Given the description of an element on the screen output the (x, y) to click on. 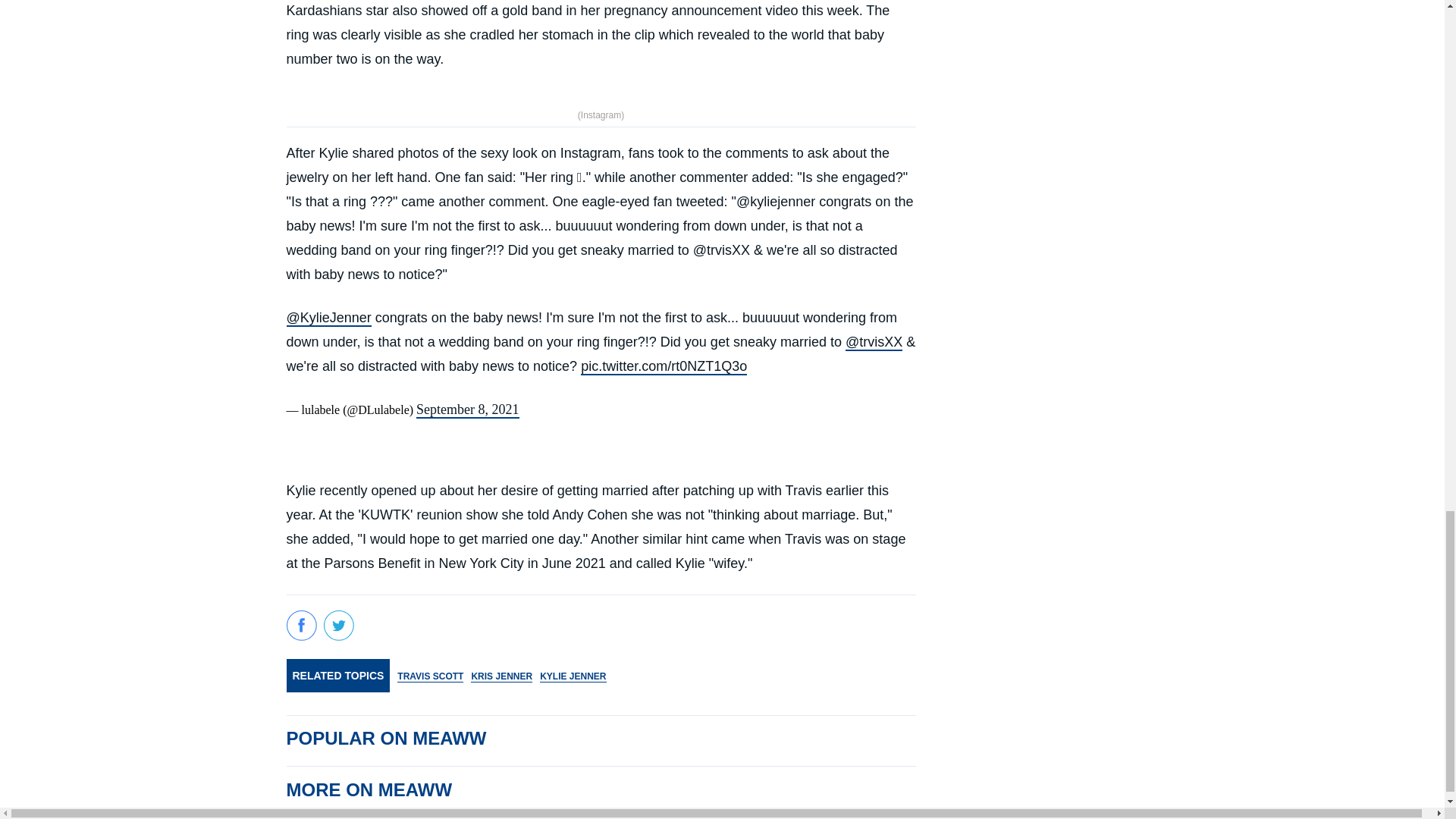
September 8, 2021 (467, 410)
TRAVIS SCOTT (430, 675)
KRIS JENNER (501, 675)
KYLIE JENNER (572, 675)
